Given the description of an element on the screen output the (x, y) to click on. 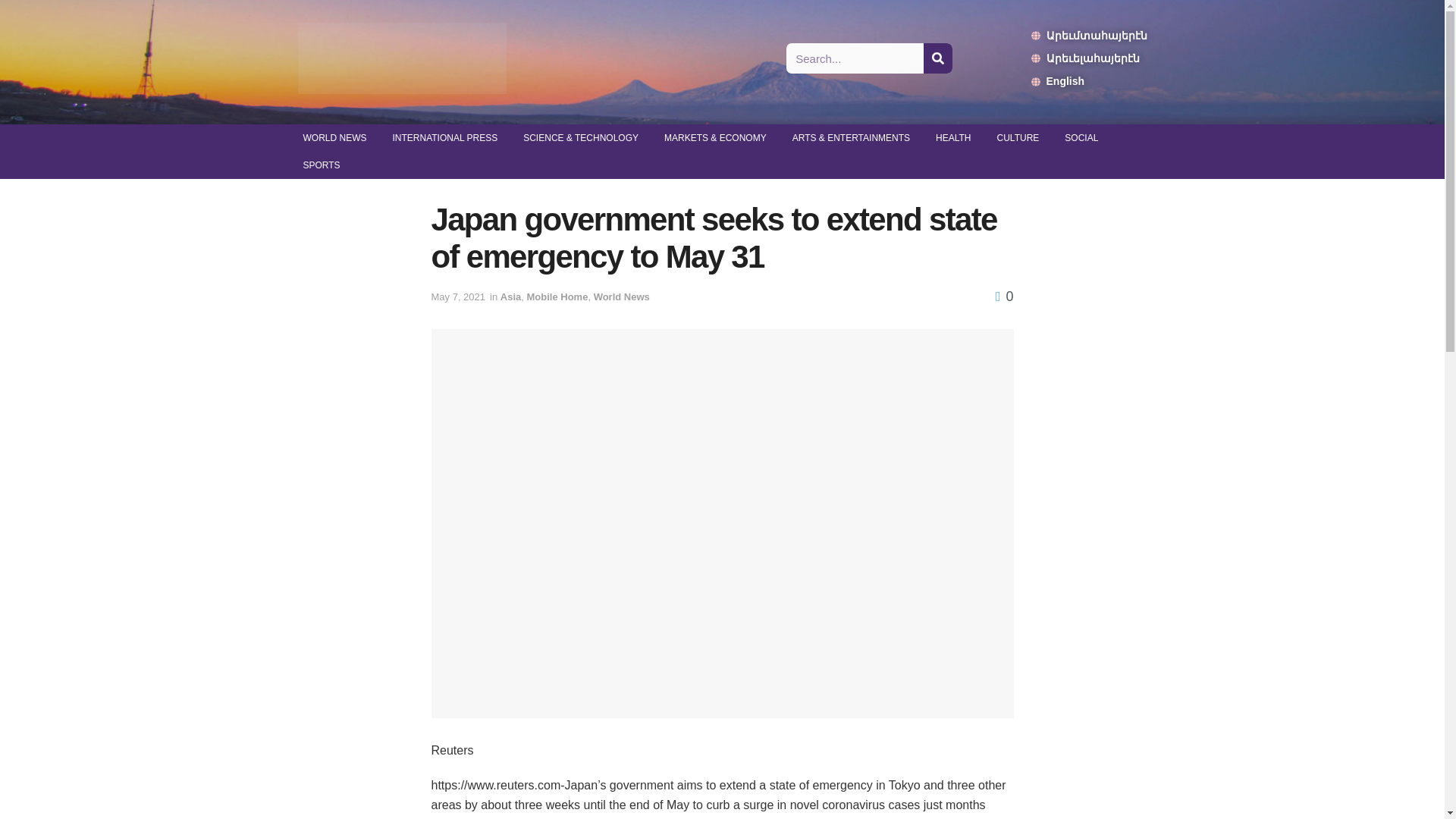
Asia (510, 296)
English (1088, 80)
HEALTH (953, 137)
0 (1004, 296)
SOCIAL (1080, 137)
Mobile Home (556, 296)
SPORTS (320, 165)
INTERNATIONAL PRESS (444, 137)
WORLD NEWS (333, 137)
May 7, 2021 (457, 296)
